Given the description of an element on the screen output the (x, y) to click on. 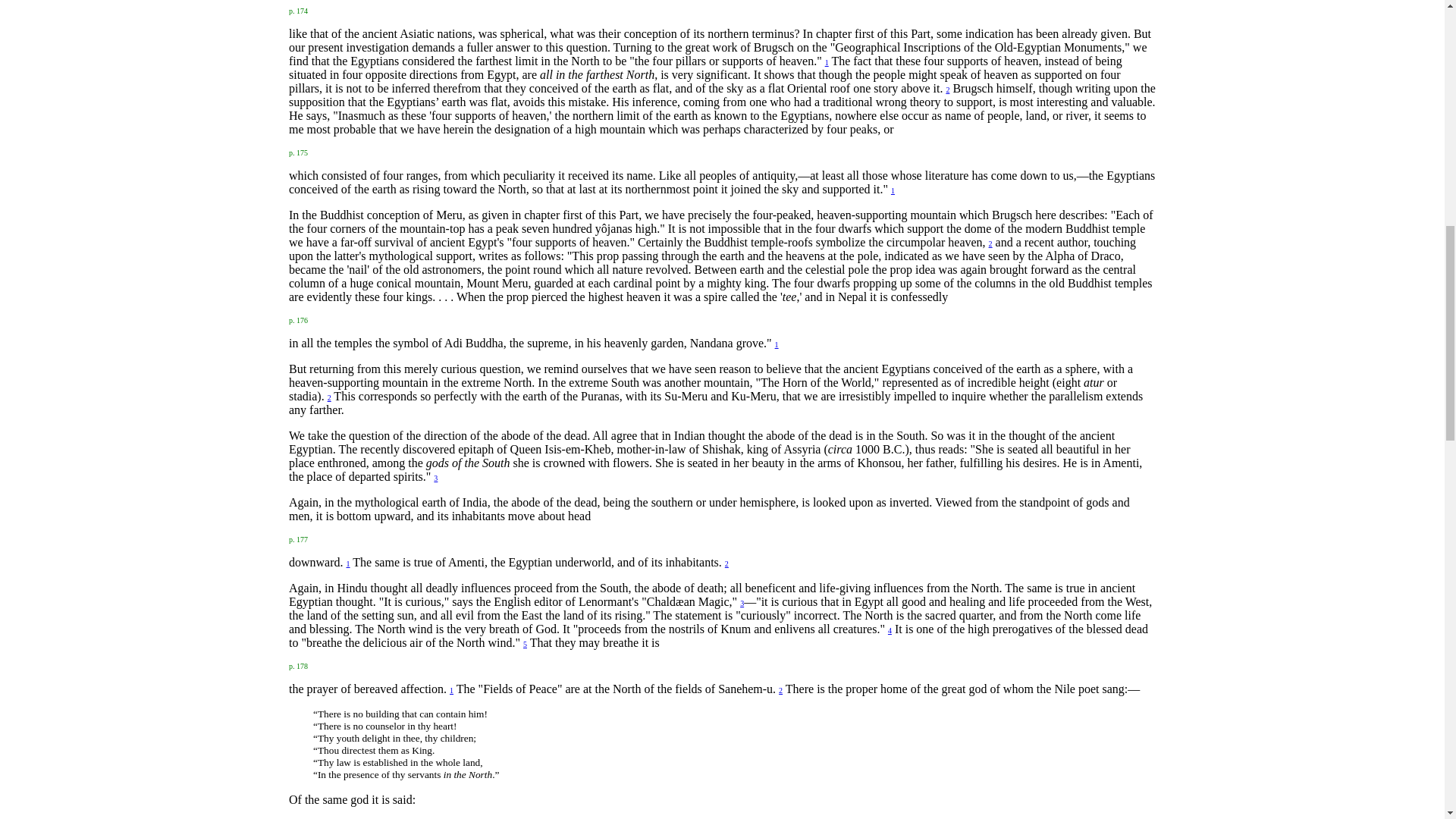
p. 174 (297, 9)
p. 175 (297, 151)
p. 176 (297, 318)
p. 177 (297, 537)
